Given the description of an element on the screen output the (x, y) to click on. 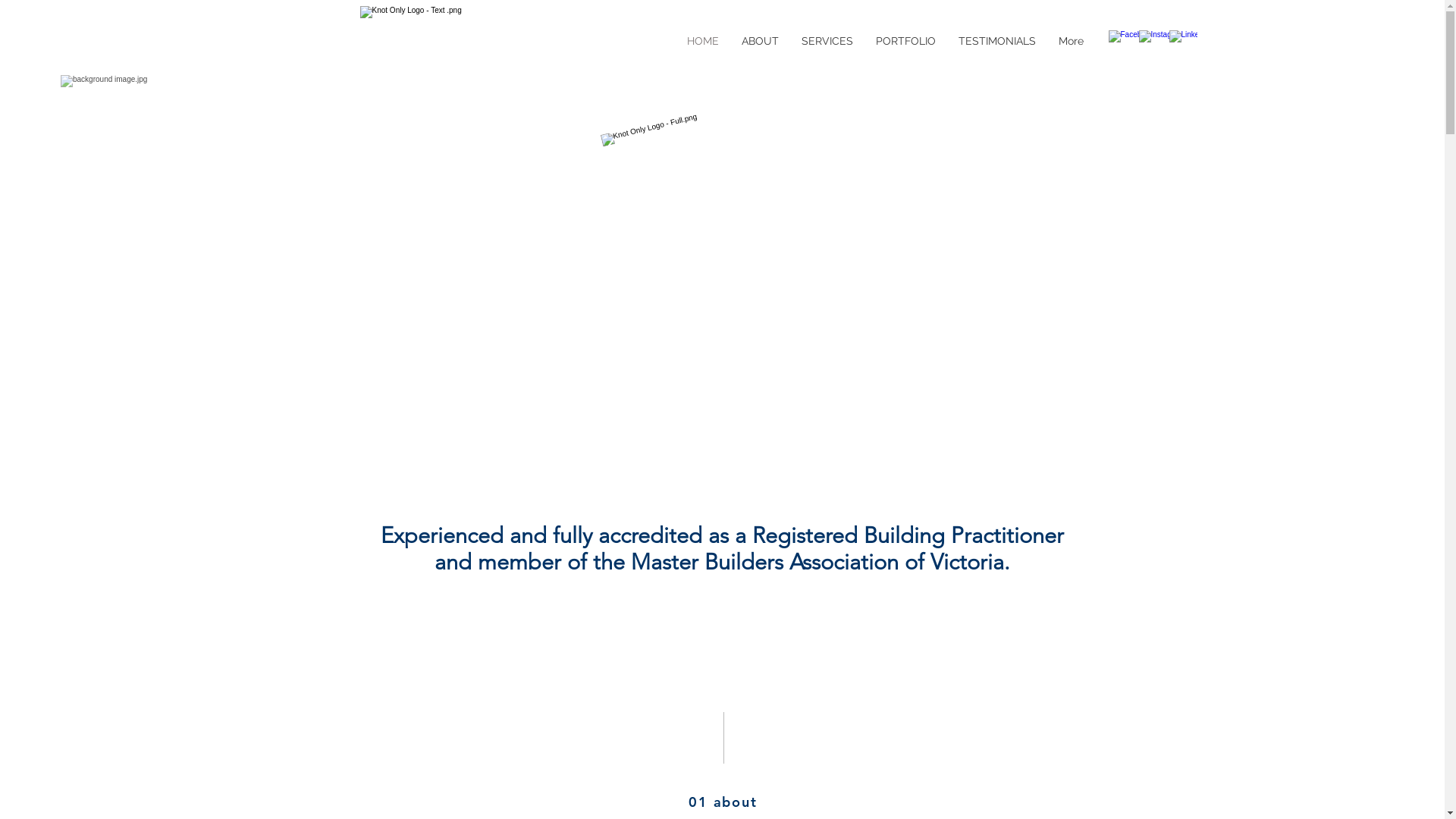
PORTFOLIO Element type: text (905, 40)
HOME Element type: text (701, 40)
ABOUT Element type: text (759, 40)
SERVICES Element type: text (827, 40)
TESTIMONIALS Element type: text (996, 40)
